Given the description of an element on the screen output the (x, y) to click on. 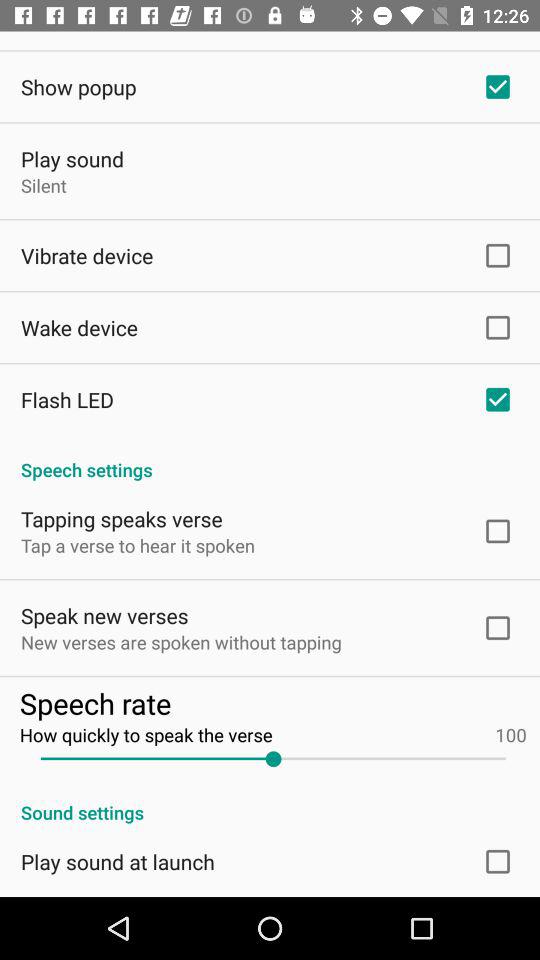
select last check box from top (497, 861)
